Given the description of an element on the screen output the (x, y) to click on. 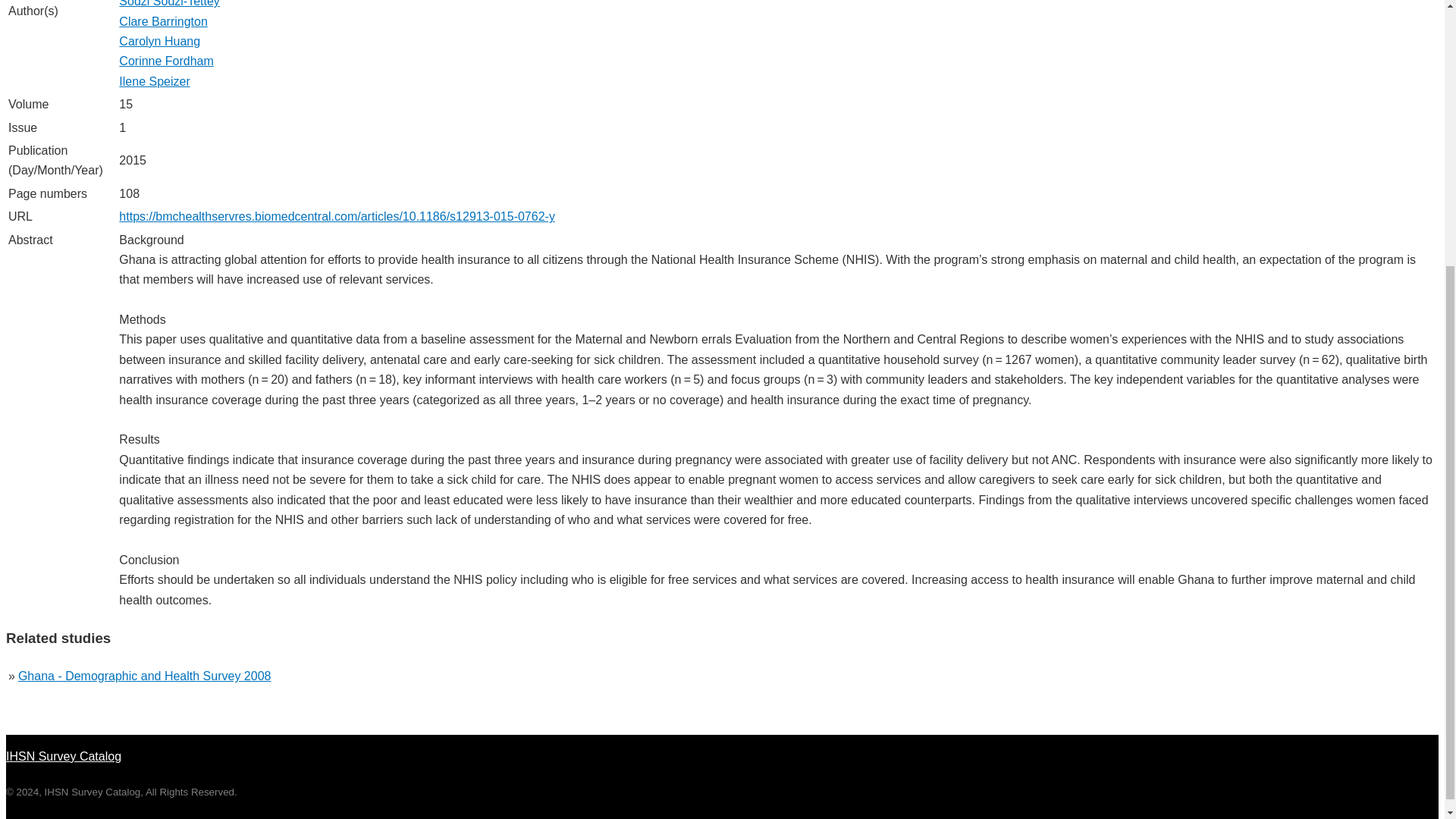
Clare Barrington (163, 21)
Ghana - Demographic and Health Survey 2008 (143, 675)
Ilene Speizer (154, 81)
Sodzi Sodzi-Tettey (169, 3)
Corinne Fordham (166, 60)
IHSN Survey Catalog (62, 748)
Carolyn Huang (159, 41)
